Given the description of an element on the screen output the (x, y) to click on. 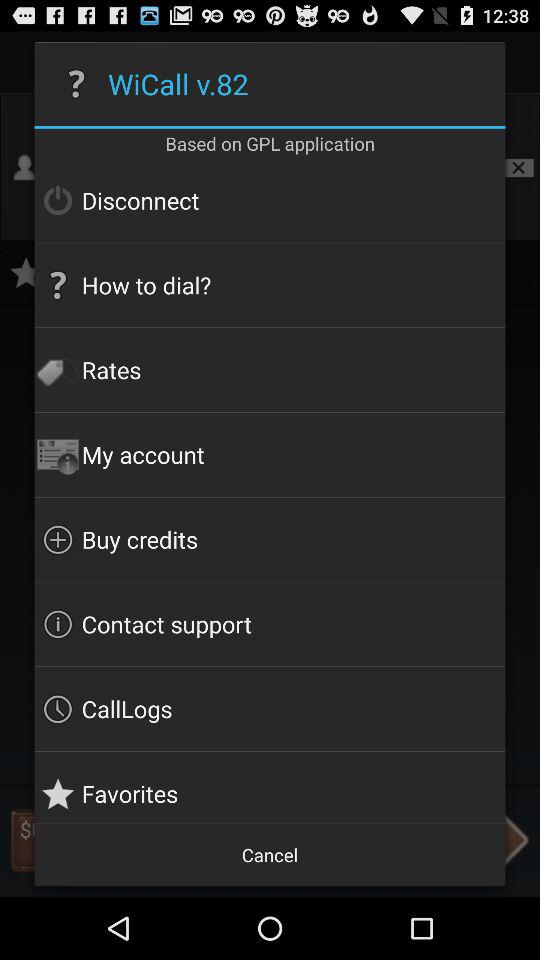
swipe to contact support icon (269, 624)
